Given the description of an element on the screen output the (x, y) to click on. 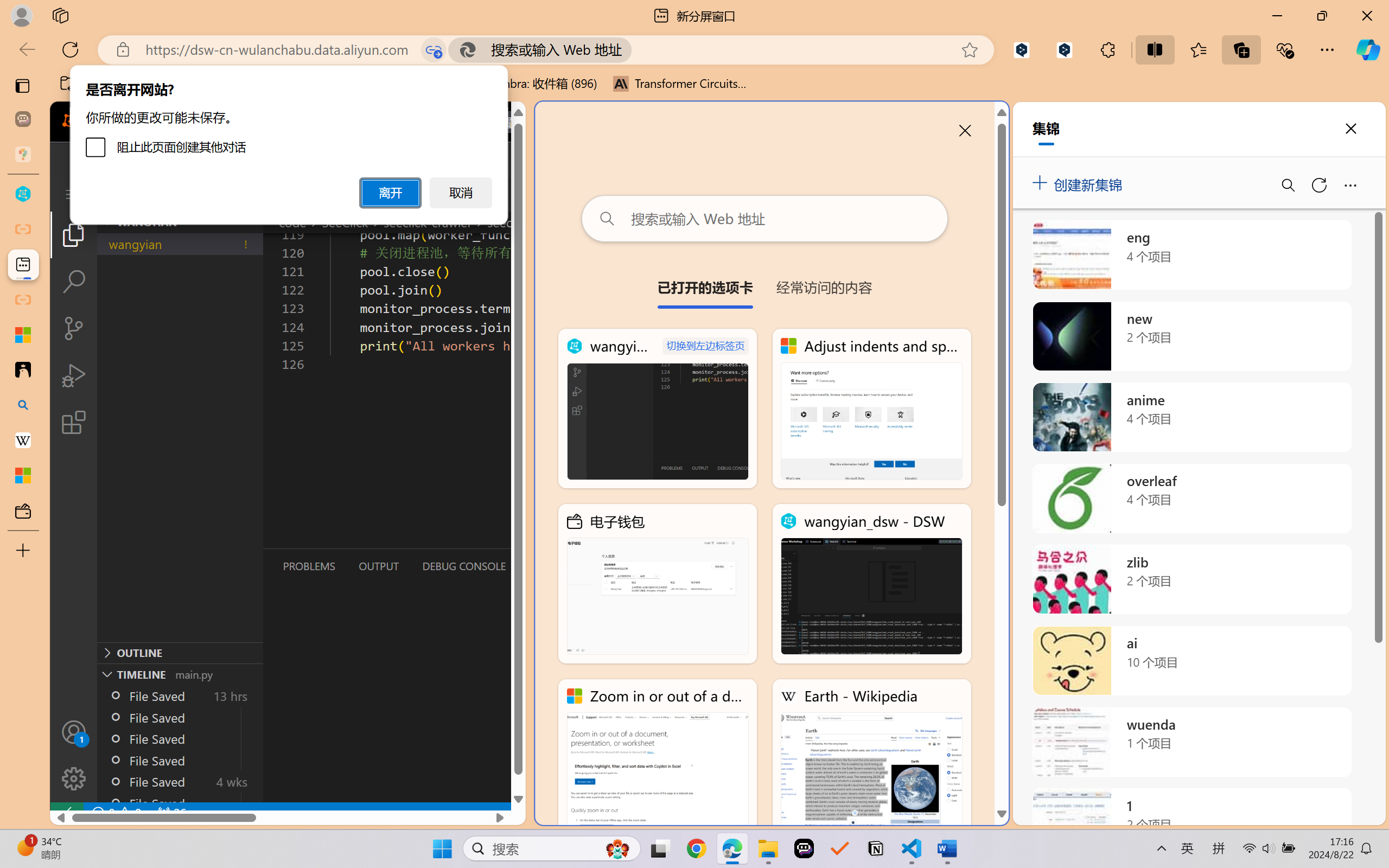
Output (Ctrl+Shift+U) (377, 565)
Manage (73, 778)
Run and Debug (Ctrl+Shift+D) (73, 375)
